Given the description of an element on the screen output the (x, y) to click on. 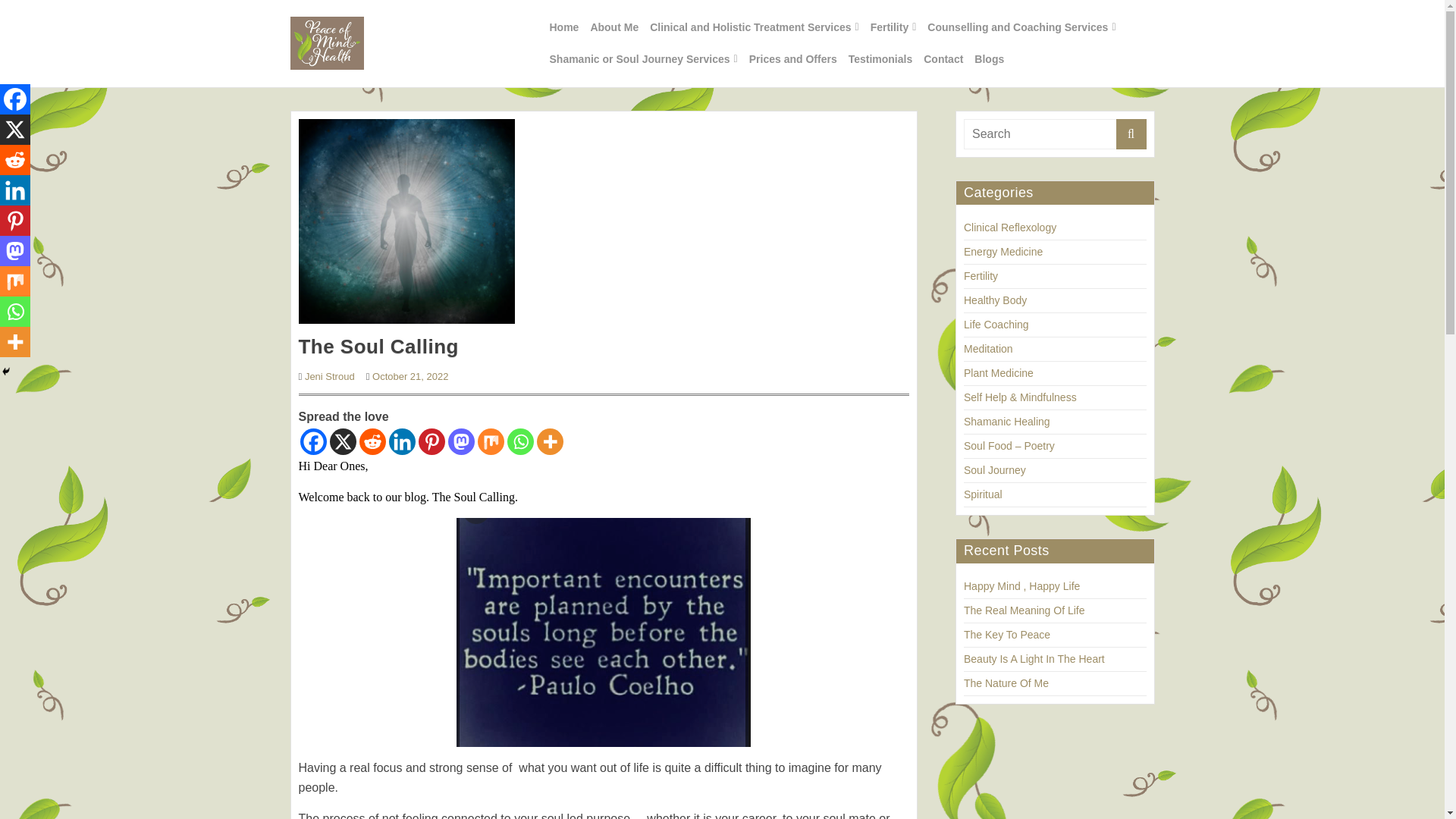
Mastodon (460, 441)
Reddit (15, 159)
Pinterest (432, 441)
The Soul Calling (406, 219)
Mix (490, 441)
More (550, 441)
About Me (614, 27)
Linkedin (401, 441)
Whatsapp (519, 441)
Counselling and Coaching Services (1021, 27)
